Given the description of an element on the screen output the (x, y) to click on. 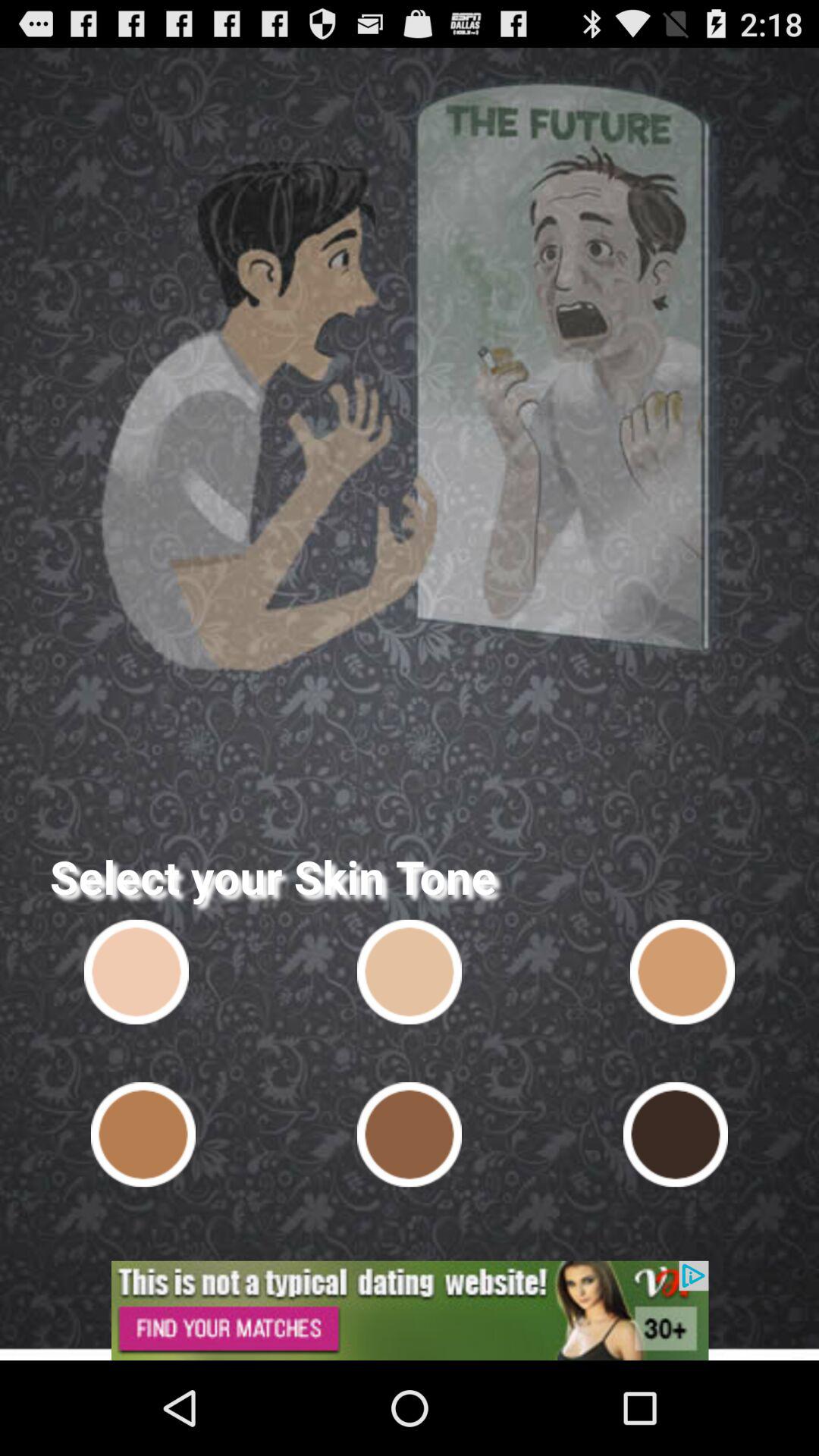
select a skin tone for a character (409, 1134)
